Given the description of an element on the screen output the (x, y) to click on. 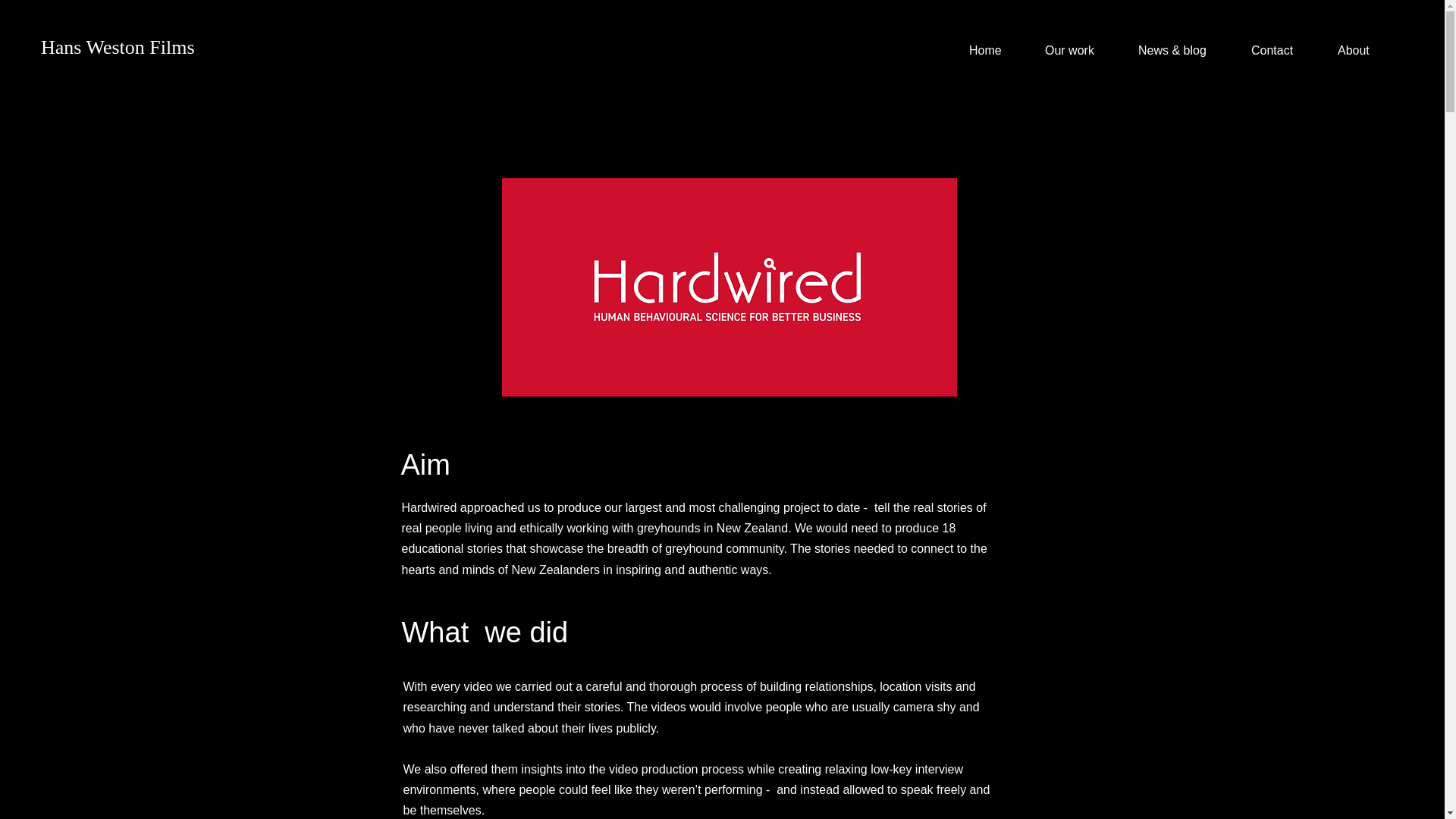
Hans Weston Films (117, 47)
About (1364, 50)
Home (995, 50)
Contact (1283, 50)
Our work (1079, 50)
